Given the description of an element on the screen output the (x, y) to click on. 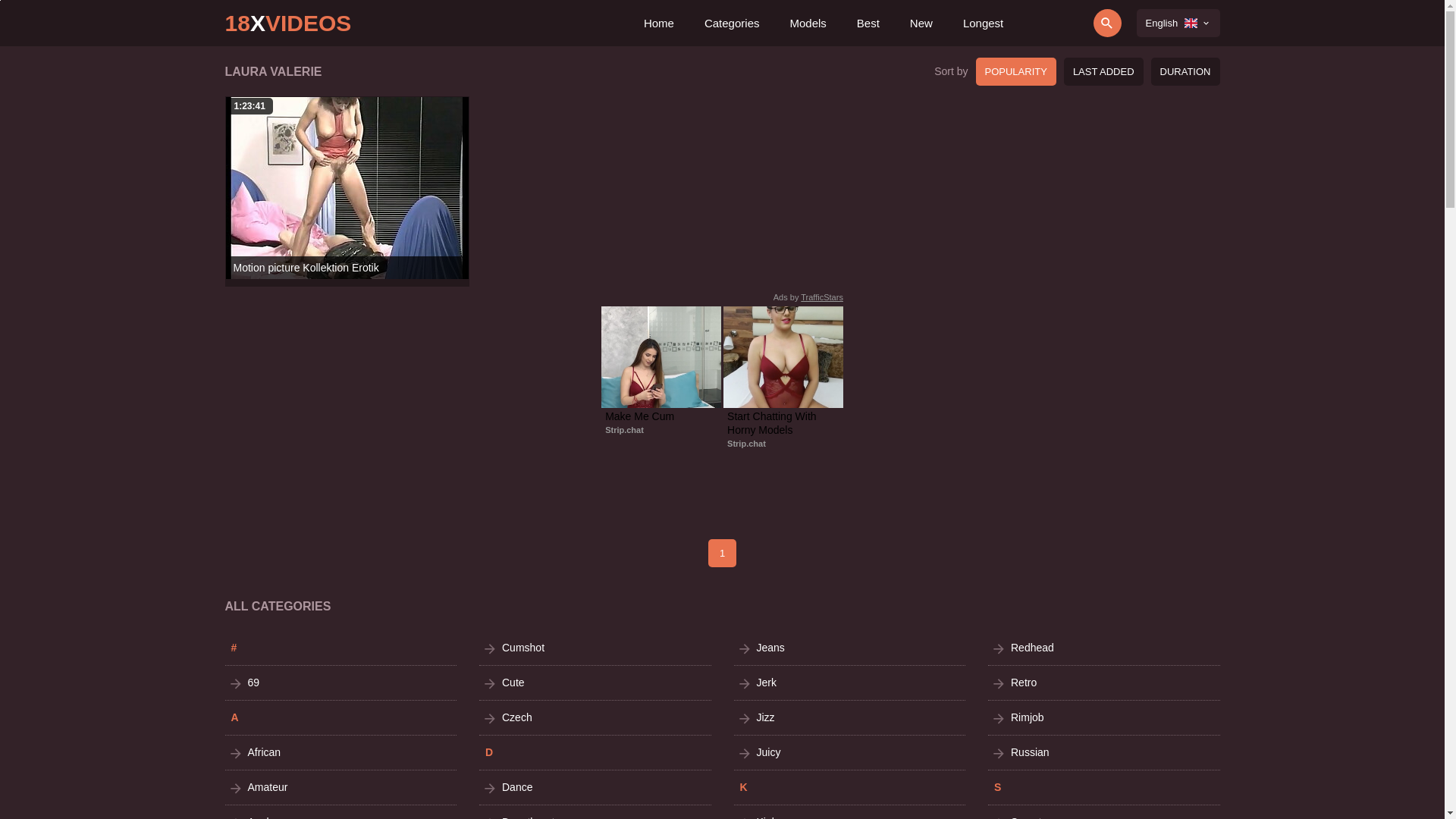
Rimjob Element type: text (1104, 717)
New Element type: text (921, 22)
1 Element type: text (722, 553)
DURATION Element type: text (1185, 71)
Home Element type: text (658, 22)
Jizz Element type: text (850, 717)
Best Element type: text (867, 22)
Strip.chat Element type: text (746, 443)
Cute Element type: text (595, 682)
Longest Element type: text (983, 22)
1:23:41
Motion picture Kollektion Erotik Element type: text (346, 188)
Models Element type: text (807, 22)
Juicy Element type: text (850, 752)
Ads by TrafficStars Element type: text (808, 296)
Jeans Element type: text (850, 647)
Cumshot Element type: text (595, 647)
Amateur Element type: text (340, 787)
African Element type: text (340, 752)
POPULARITY Element type: text (1015, 71)
LAST ADDED Element type: text (1103, 71)
18XVIDEOS Element type: text (287, 23)
Czech Element type: text (595, 717)
Strip.chat Element type: text (624, 429)
English Element type: text (1178, 23)
Redhead Element type: text (1104, 647)
Retro Element type: text (1104, 682)
Jerk Element type: text (850, 682)
69 Element type: text (340, 682)
Search Element type: text (1064, 23)
Make Me Cum Element type: text (661, 416)
Start Chatting With Horny Models Element type: text (783, 422)
Dance Element type: text (595, 787)
Categories Element type: text (731, 22)
Russian Element type: text (1104, 752)
